Given the description of an element on the screen output the (x, y) to click on. 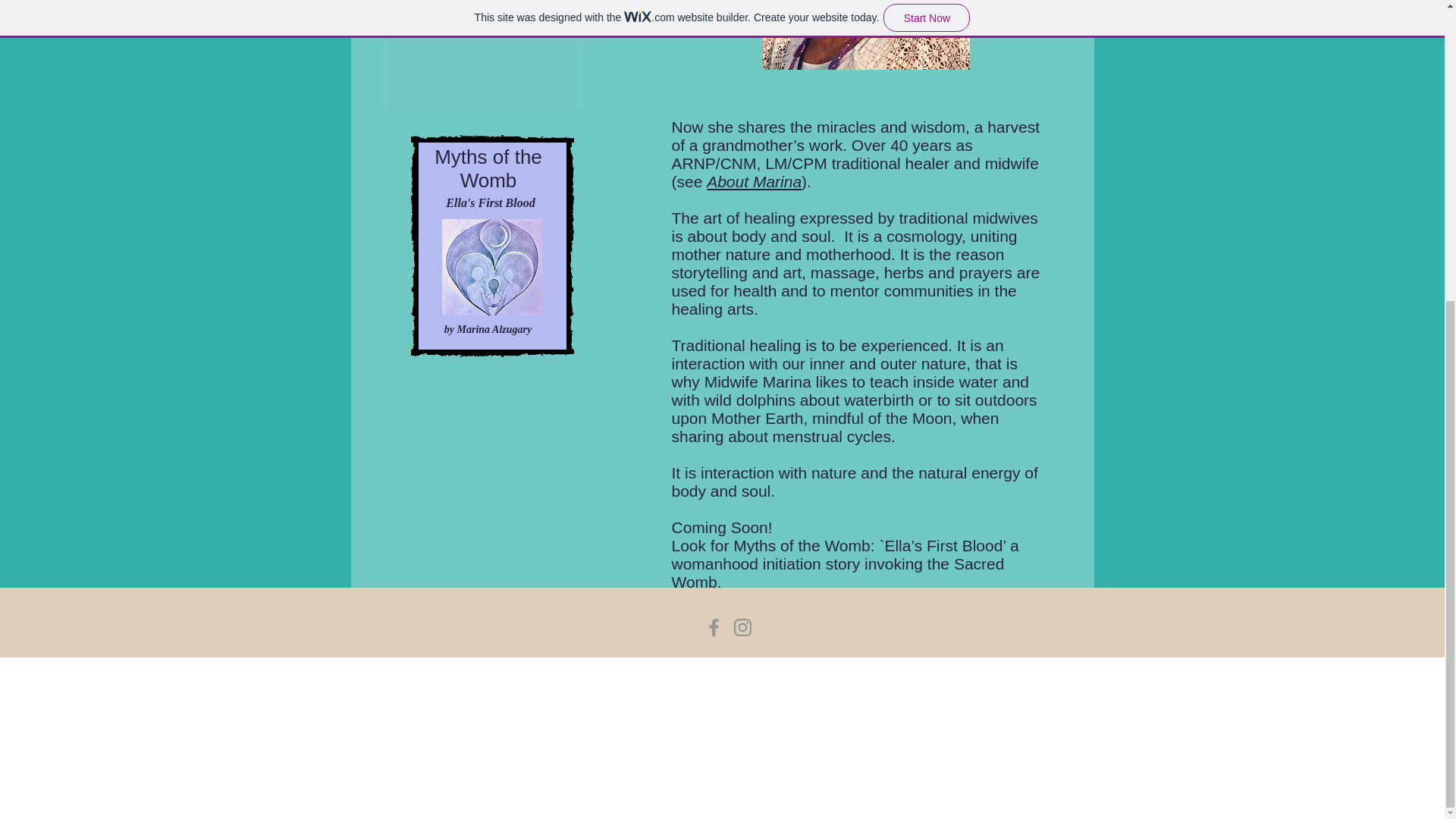
About Marina (754, 181)
